Given the description of an element on the screen output the (x, y) to click on. 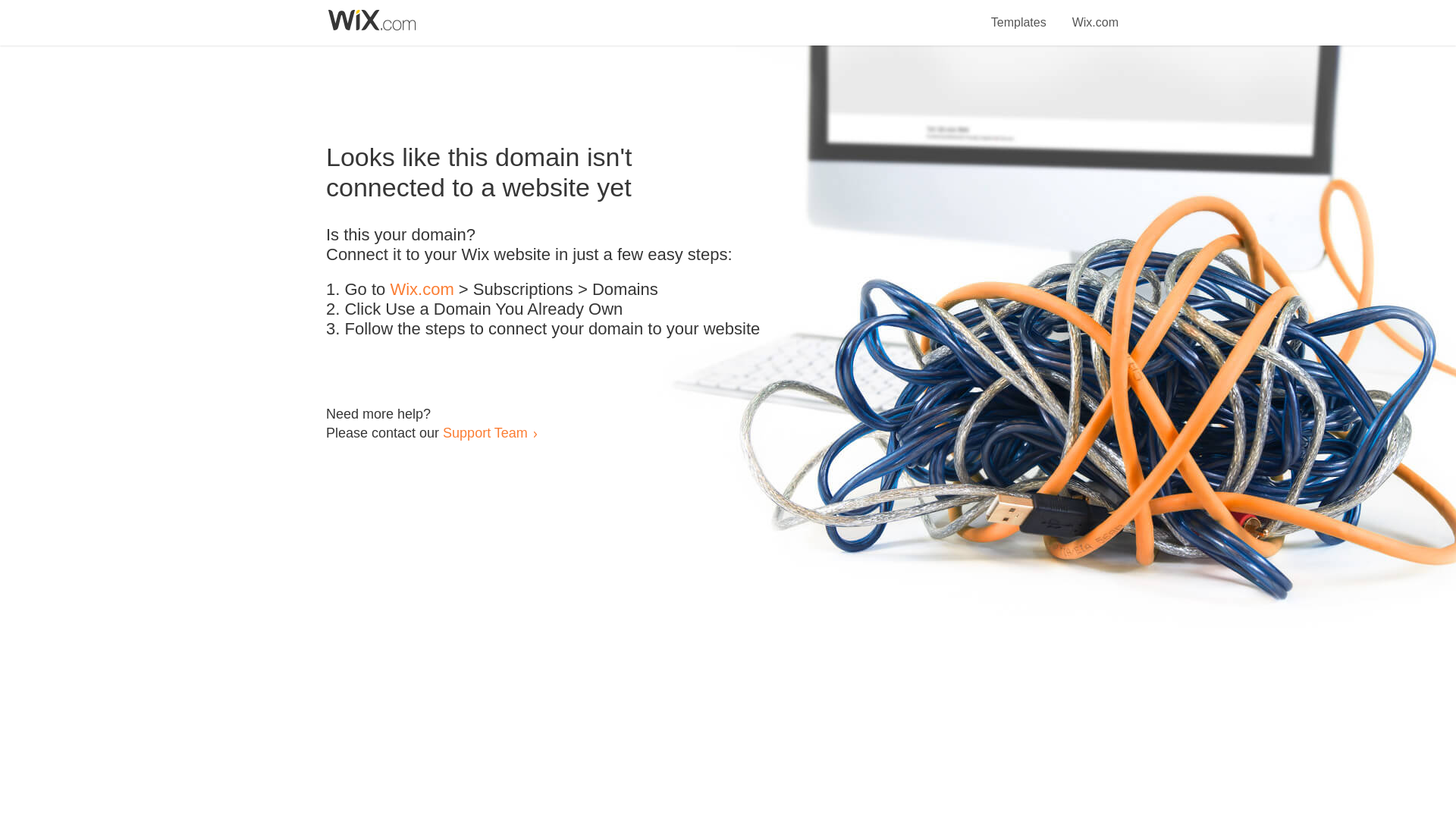
Support Team (484, 432)
Wix.com (421, 289)
Templates (1018, 14)
Wix.com (1095, 14)
